Given the description of an element on the screen output the (x, y) to click on. 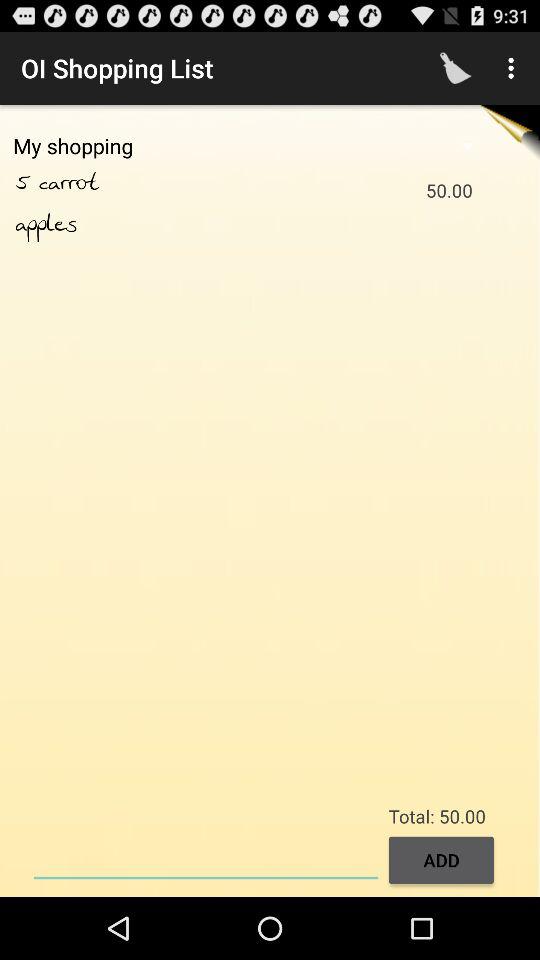
enter text (205, 858)
